Given the description of an element on the screen output the (x, y) to click on. 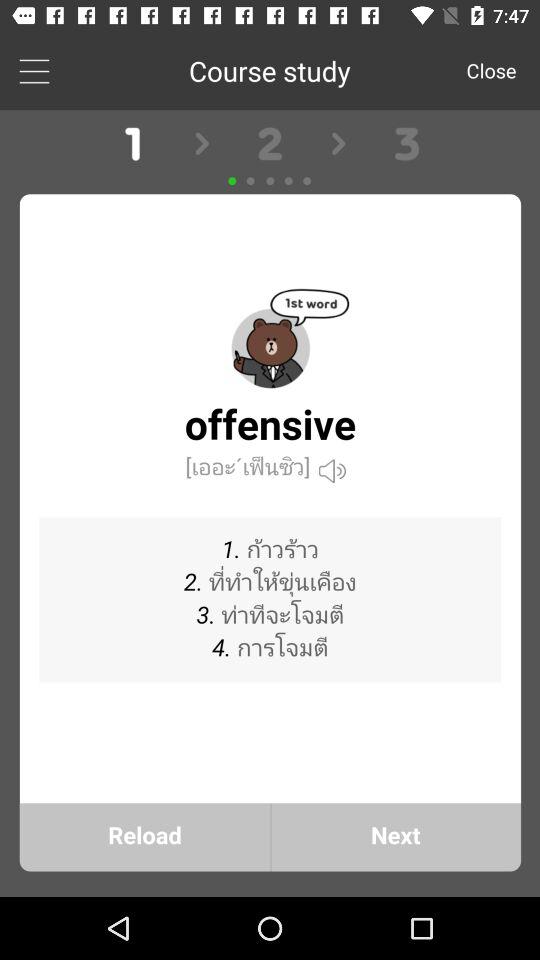
menu option (33, 70)
